Given the description of an element on the screen output the (x, y) to click on. 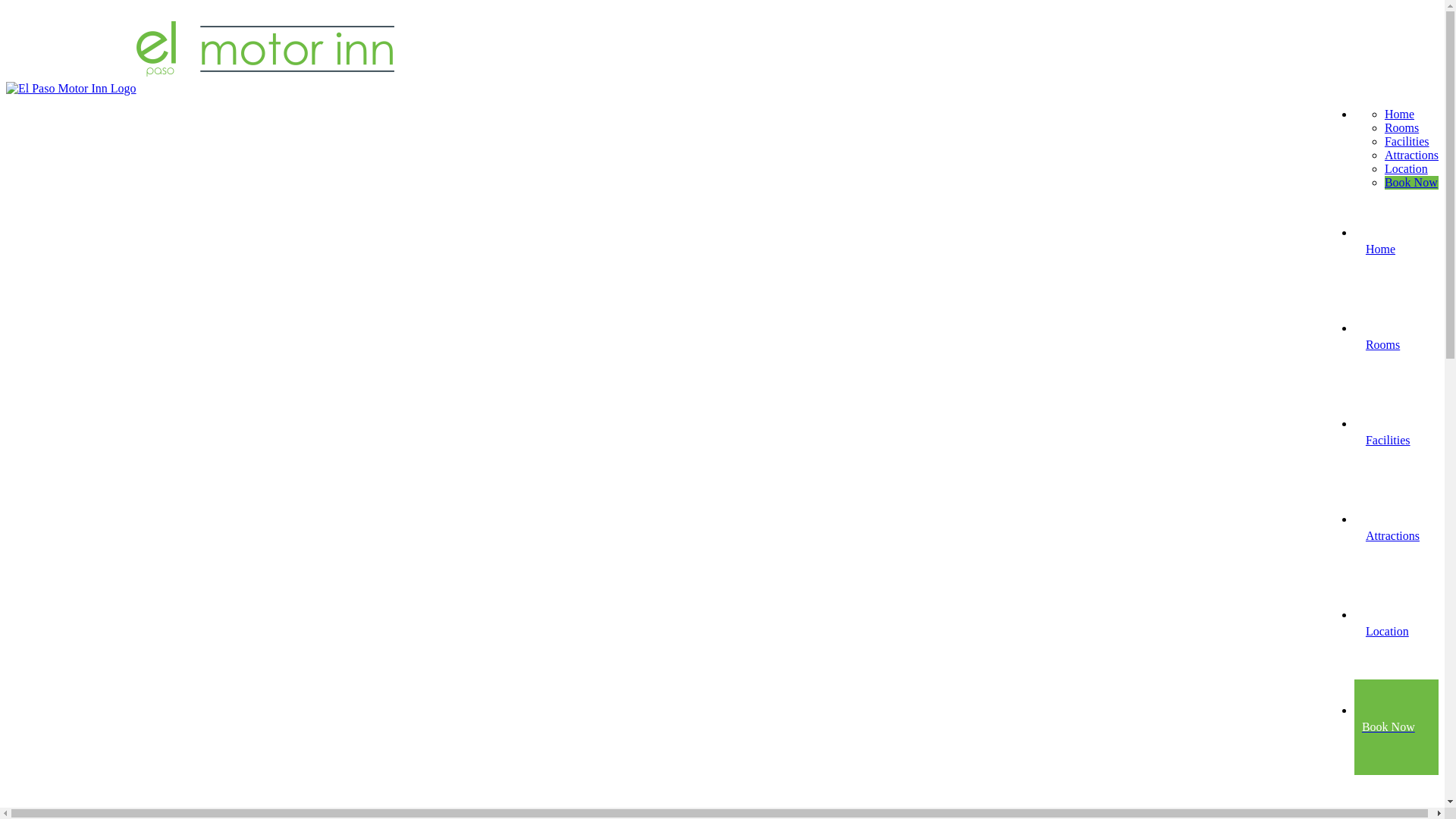
Location Element type: text (1405, 168)
Facilities Element type: text (1406, 140)
Rooms Element type: text (1396, 344)
Facilities Element type: text (1396, 440)
Home Element type: text (1396, 248)
Book Now Element type: text (1396, 726)
Home Element type: text (1399, 113)
Attractions Element type: text (1411, 154)
Book Now Element type: text (1410, 181)
Attractions Element type: text (1396, 535)
Rooms Element type: text (1401, 127)
Location Element type: text (1396, 631)
